Given the description of an element on the screen output the (x, y) to click on. 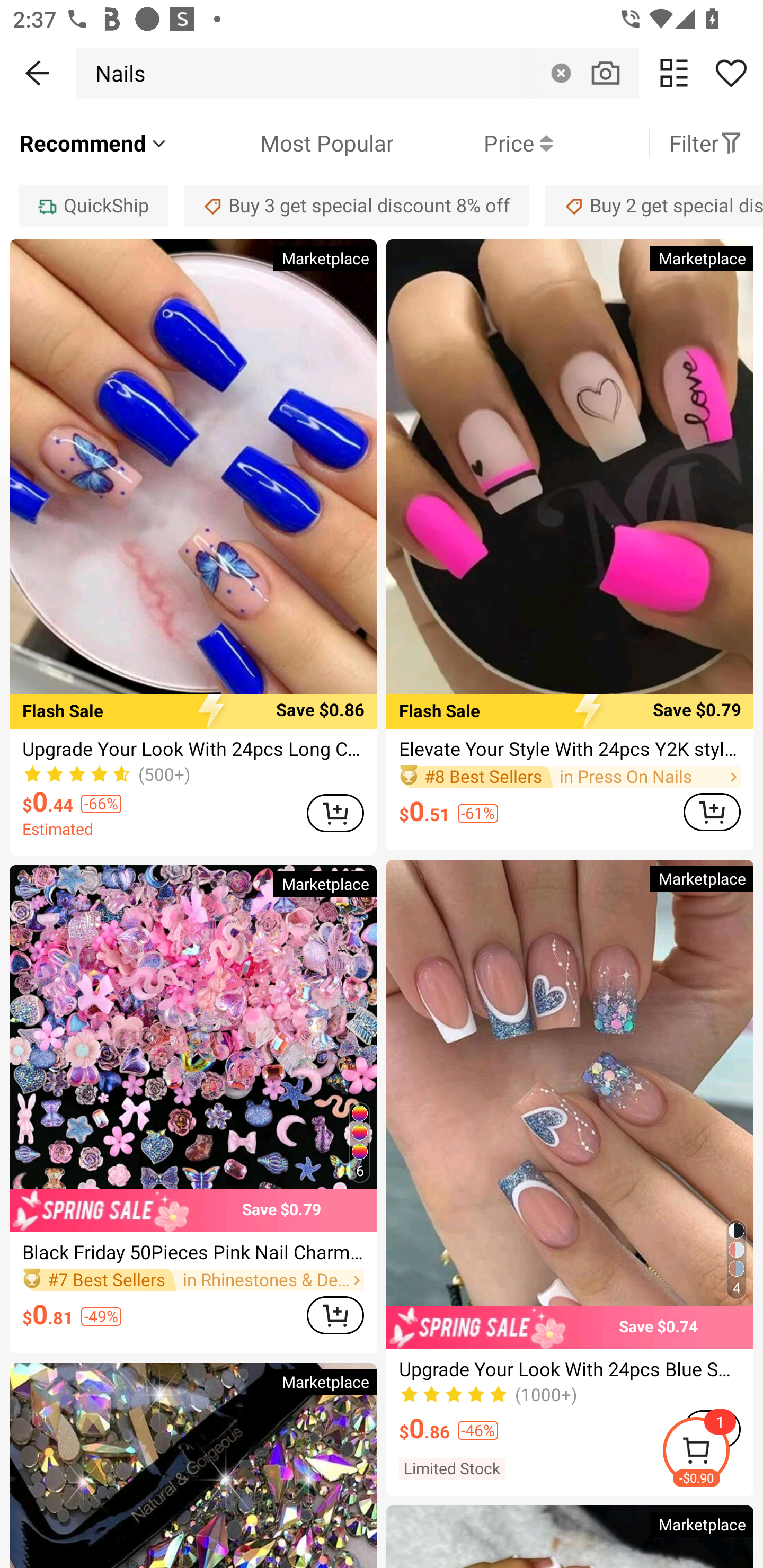
Nails (115, 72)
Clear (560, 72)
change view (673, 72)
Share (730, 72)
Recommend (94, 143)
Most Popular (280, 143)
Price (472, 143)
Filter (705, 143)
QuickShip (93, 206)
Buy 3 get special discount 8% off (356, 206)
Buy 2 get special discount 2% off (654, 206)
#8 Best Sellers in Press On Nails (569, 777)
ADD TO CART (711, 812)
ADD TO CART (334, 812)
#7 Best Sellers in Rhinestones & Decorations (192, 1279)
ADD TO CART (334, 1315)
-$0.90 (712, 1452)
